Given the description of an element on the screen output the (x, y) to click on. 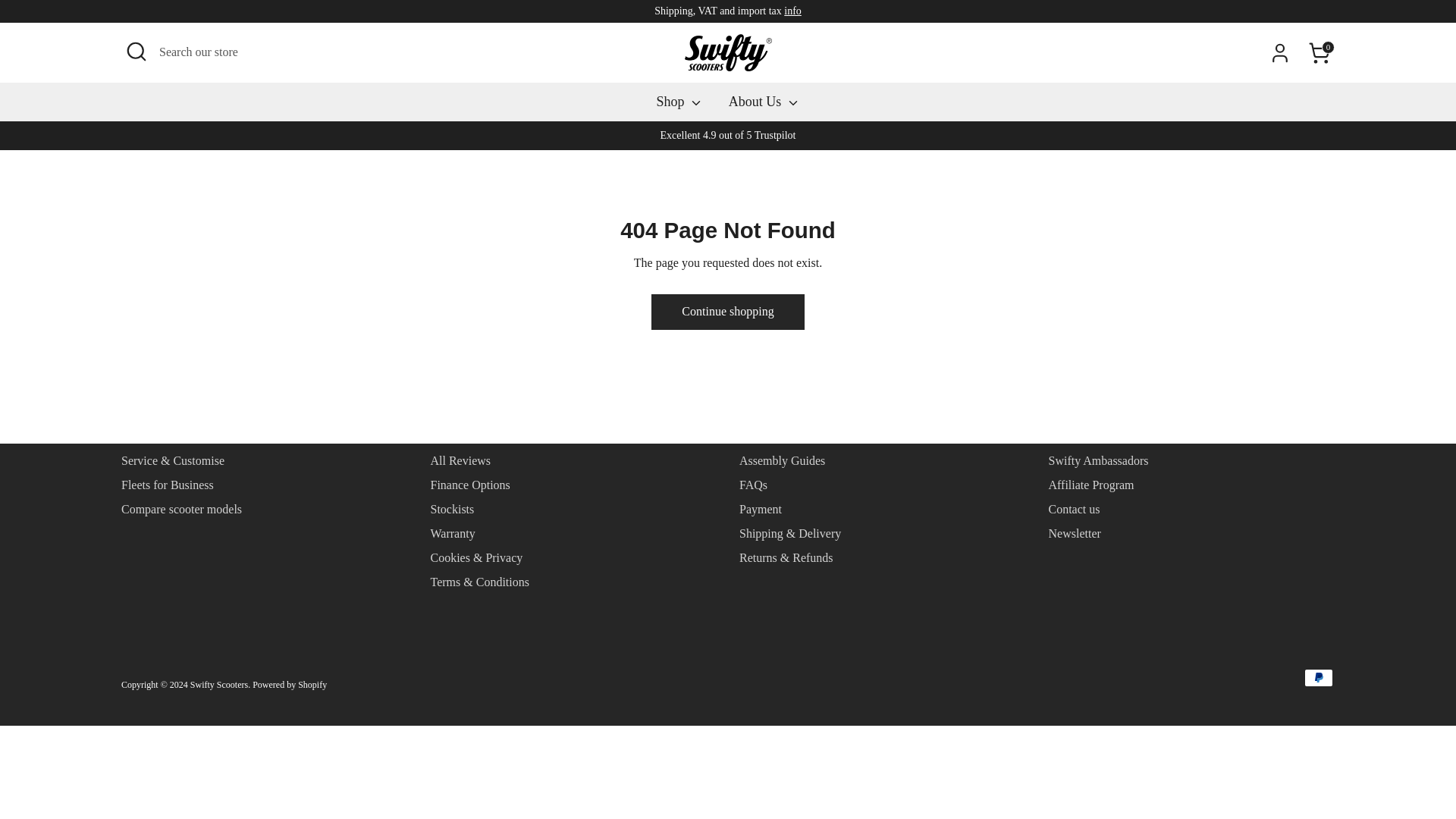
PayPal (1318, 678)
0 (1319, 52)
info (793, 10)
